Given the description of an element on the screen output the (x, y) to click on. 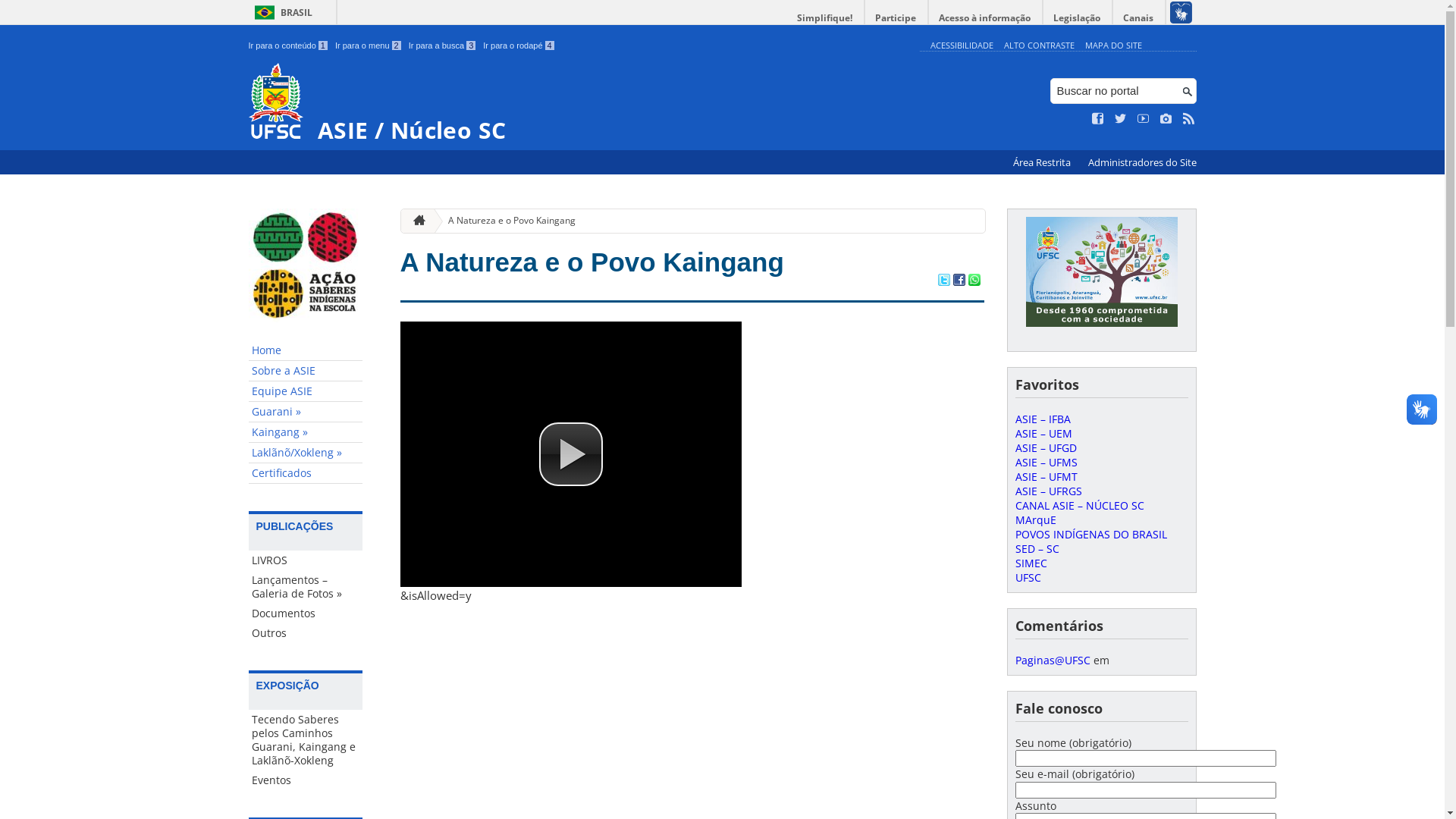
Participe Element type: text (895, 18)
Outros Element type: text (305, 633)
Ir para a busca 3 Element type: text (442, 45)
BRASIL Element type: text (280, 12)
Certificados Element type: text (305, 473)
Veja no Instagram Element type: hover (1166, 118)
Documentos Element type: text (305, 613)
Curta no Facebook Element type: hover (1098, 118)
Compartilhar no Twitter Element type: hover (943, 280)
Siga no Twitter Element type: hover (1120, 118)
Eventos Element type: text (305, 780)
LIVROS Element type: text (305, 560)
SIMEC Element type: text (1030, 562)
Simplifique! Element type: text (825, 18)
Compartilhar no WhatsApp Element type: hover (973, 280)
Canais Element type: text (1138, 18)
A Natureza e o Povo Kaingang Element type: text (505, 220)
Equipe ASIE Element type: text (305, 391)
MArquE Element type: text (1034, 519)
ACESSIBILIDADE Element type: text (960, 44)
A Natureza e o Povo Kaingang Element type: text (592, 261)
Compartilhar no Facebook Element type: hover (958, 280)
Home Element type: text (305, 350)
UFSC Element type: text (1027, 577)
Paginas@UFSC Element type: text (1051, 659)
ALTO CONTRASTE Element type: text (1039, 44)
MAPA DO SITE Element type: text (1112, 44)
Sobre a ASIE Element type: text (305, 370)
Administradores do Site Element type: text (1141, 162)
Ir para o menu 2 Element type: text (368, 45)
